Given the description of an element on the screen output the (x, y) to click on. 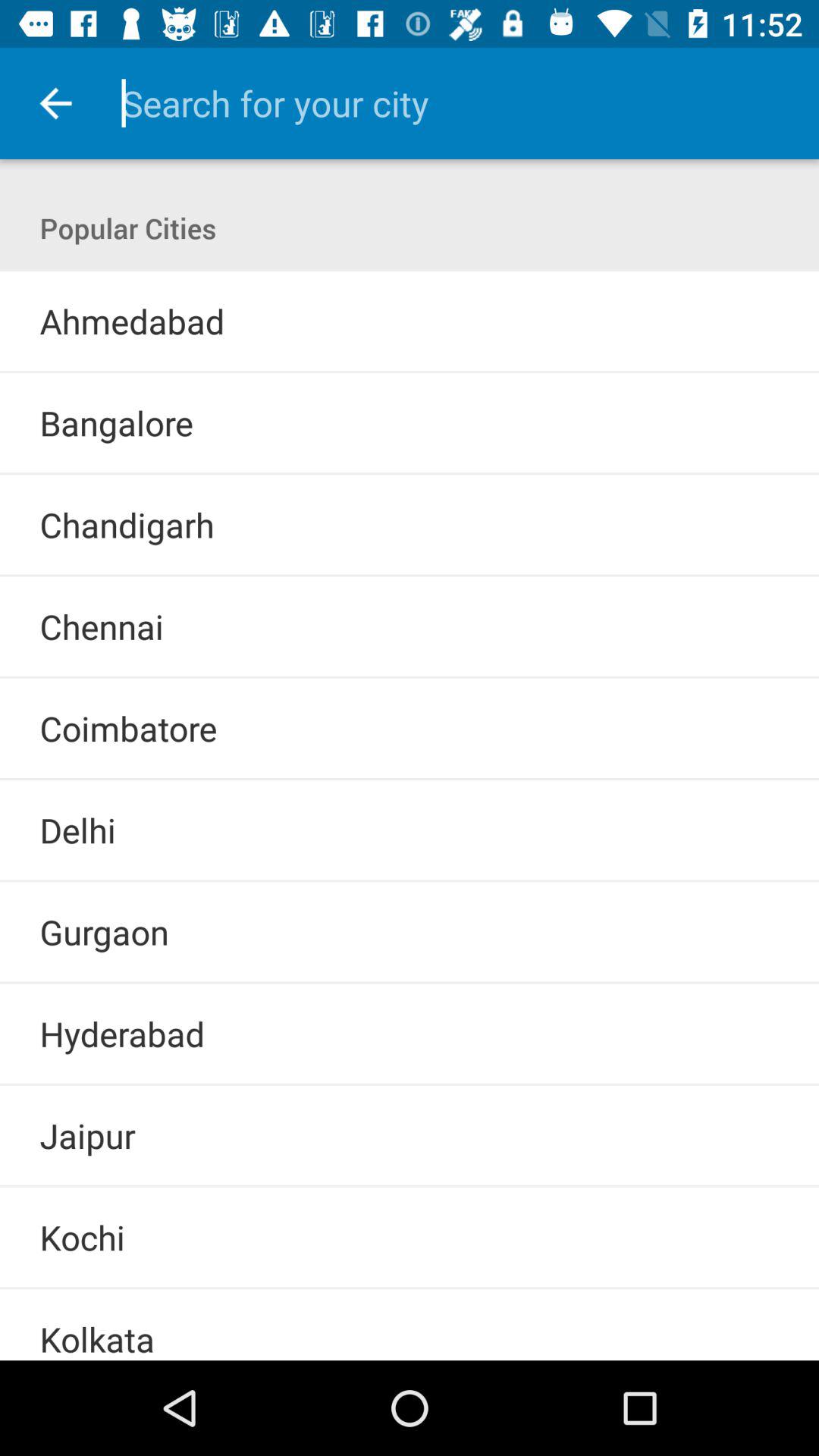
flip to the coimbatore icon (128, 728)
